Given the description of an element on the screen output the (x, y) to click on. 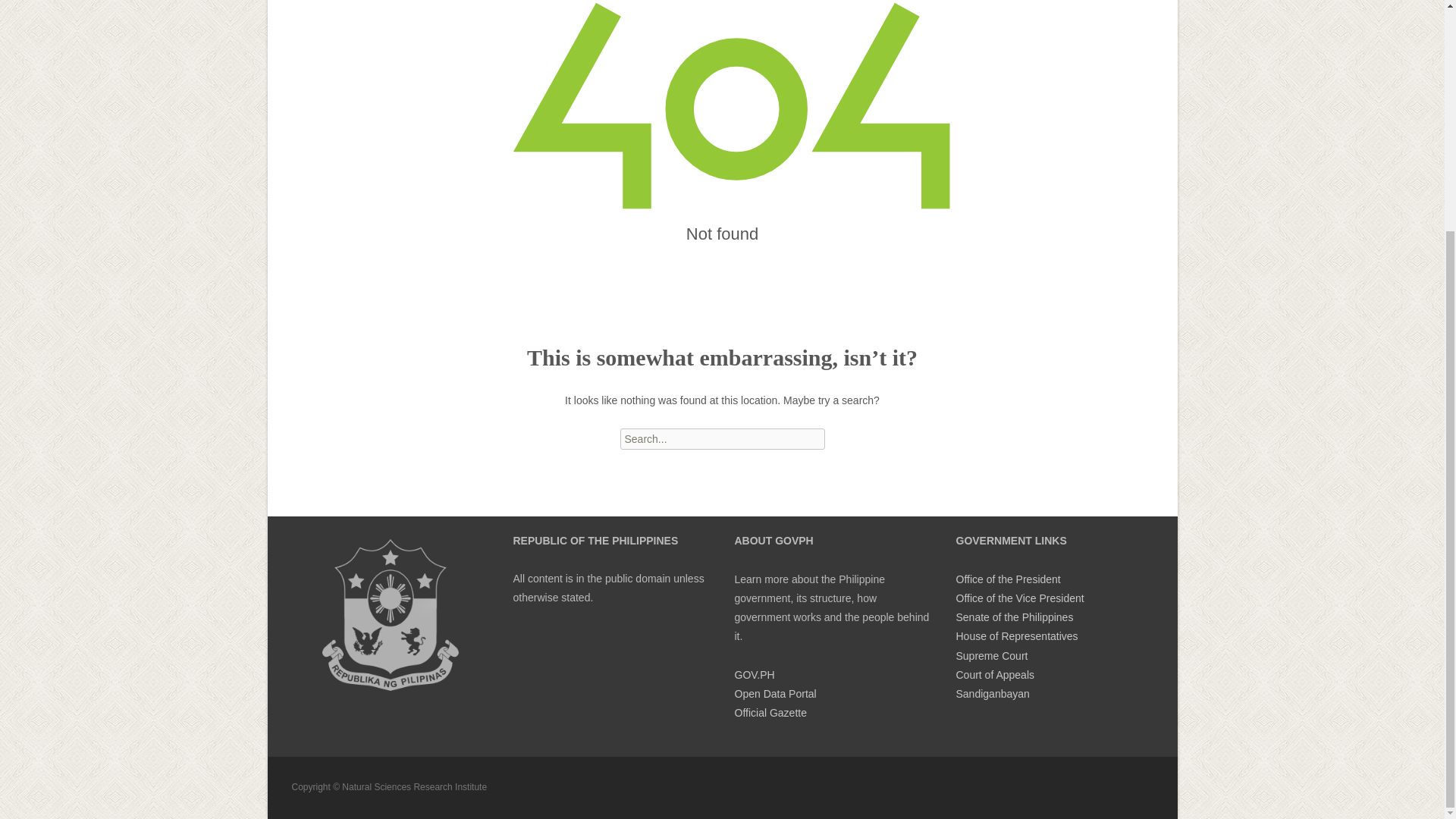
Office of the President (1007, 579)
Official Gazette (769, 712)
Open Data Portal (774, 693)
Supreme Court (991, 655)
House of Representatives (1016, 635)
Search for: (722, 438)
Senate of the Philippines (1014, 616)
Office of the Vice President (1019, 598)
Court of Appeals (994, 674)
Sandiganbayan (992, 693)
